Given the description of an element on the screen output the (x, y) to click on. 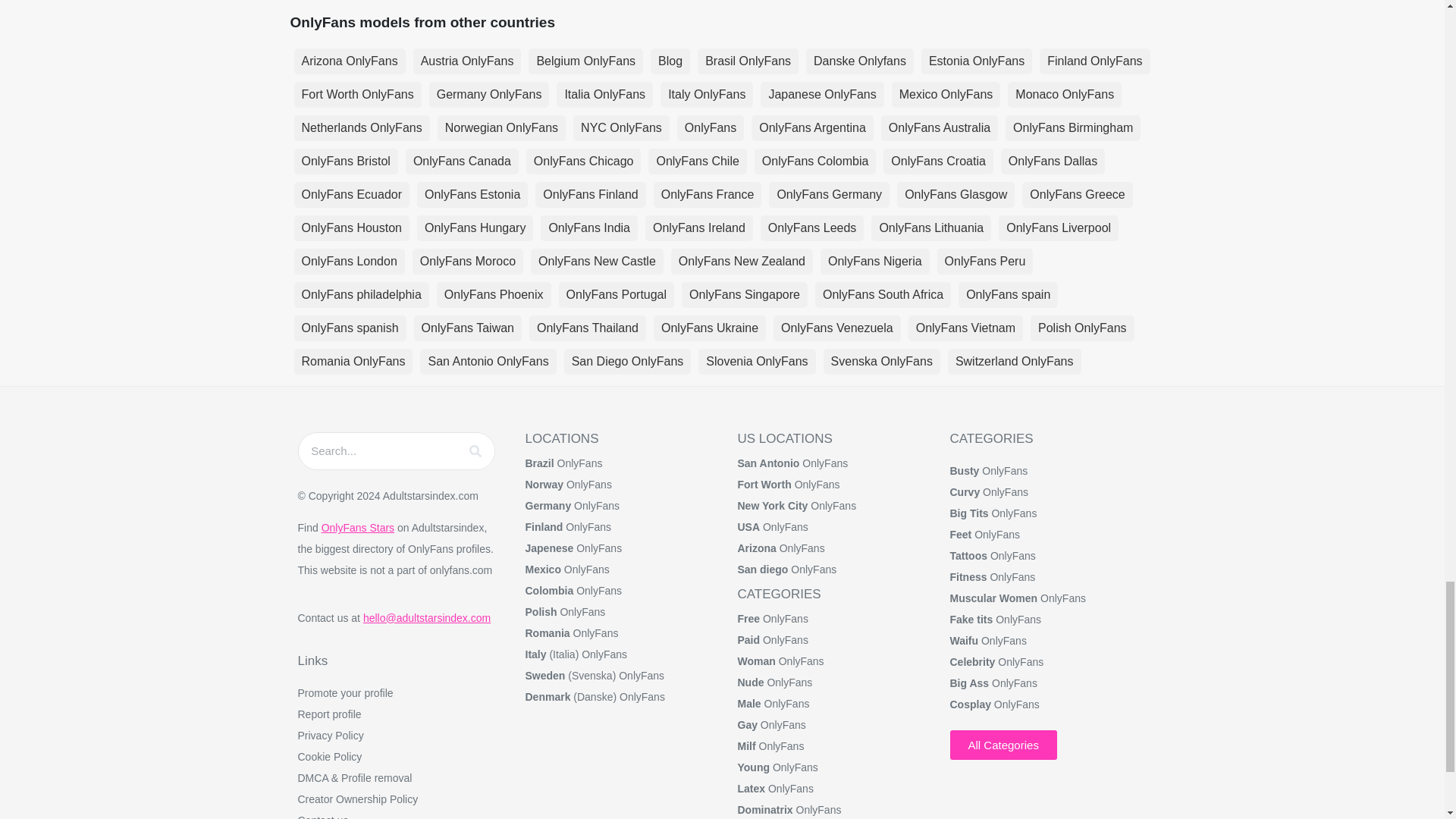
Germany OnlyFans Category (489, 94)
Belgium OnlyFans Category (585, 61)
Arizona OnlyFans (350, 61)
Monaco OnlyFans Category (1064, 94)
Norwegian OnlyFans Category (502, 127)
Blog Category (670, 61)
Italy OnlyFans Category (706, 94)
Netherlands OnlyFans Category (361, 127)
Brasil OnlyFans Category (747, 61)
NYC OnlyFans Category (621, 127)
Danske Onlyfans Category (860, 61)
Italia OnlyFans Category (604, 94)
Japanese OnlyFans Category (821, 94)
Finland OnlyFans Category (1094, 61)
Mexico OnlyFans Category (946, 94)
